Given the description of an element on the screen output the (x, y) to click on. 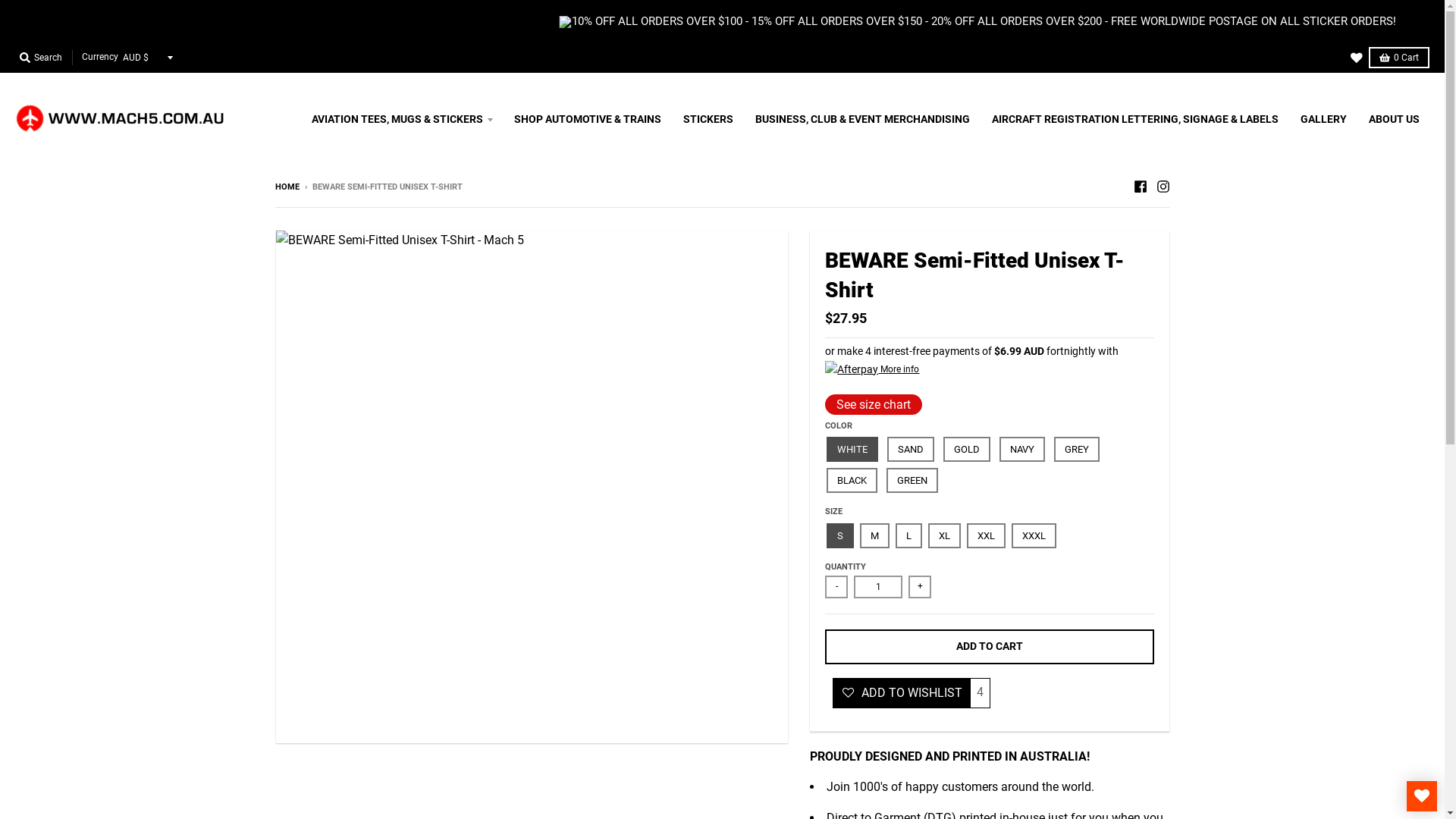
Instagram - Mach 5 Element type: hover (1162, 186)
AIRCRAFT REGISTRATION LETTERING, SIGNAGE & LABELS Element type: text (1135, 118)
0 Cart Element type: text (1398, 57)
ABOUT US Element type: text (1393, 118)
Facebook - Mach 5 Element type: hover (1139, 186)
GALLERY Element type: text (1323, 118)
More info Element type: text (872, 368)
- Element type: text (836, 586)
SHOP AUTOMOTIVE & TRAINS Element type: text (587, 118)
See size chart Element type: text (873, 404)
ADD TO CART Element type: text (989, 646)
Search Element type: text (40, 57)
AVIATION TEES, MUGS & STICKERS Element type: text (401, 118)
HOME Element type: text (286, 186)
MY WISHLIST Element type: text (1421, 796)
BUSINESS, CLUB & EVENT MERCHANDISING Element type: text (862, 118)
+ Element type: text (919, 586)
STICKERS Element type: text (708, 118)
ADD TO WISHLIST Element type: text (900, 692)
